Given the description of an element on the screen output the (x, y) to click on. 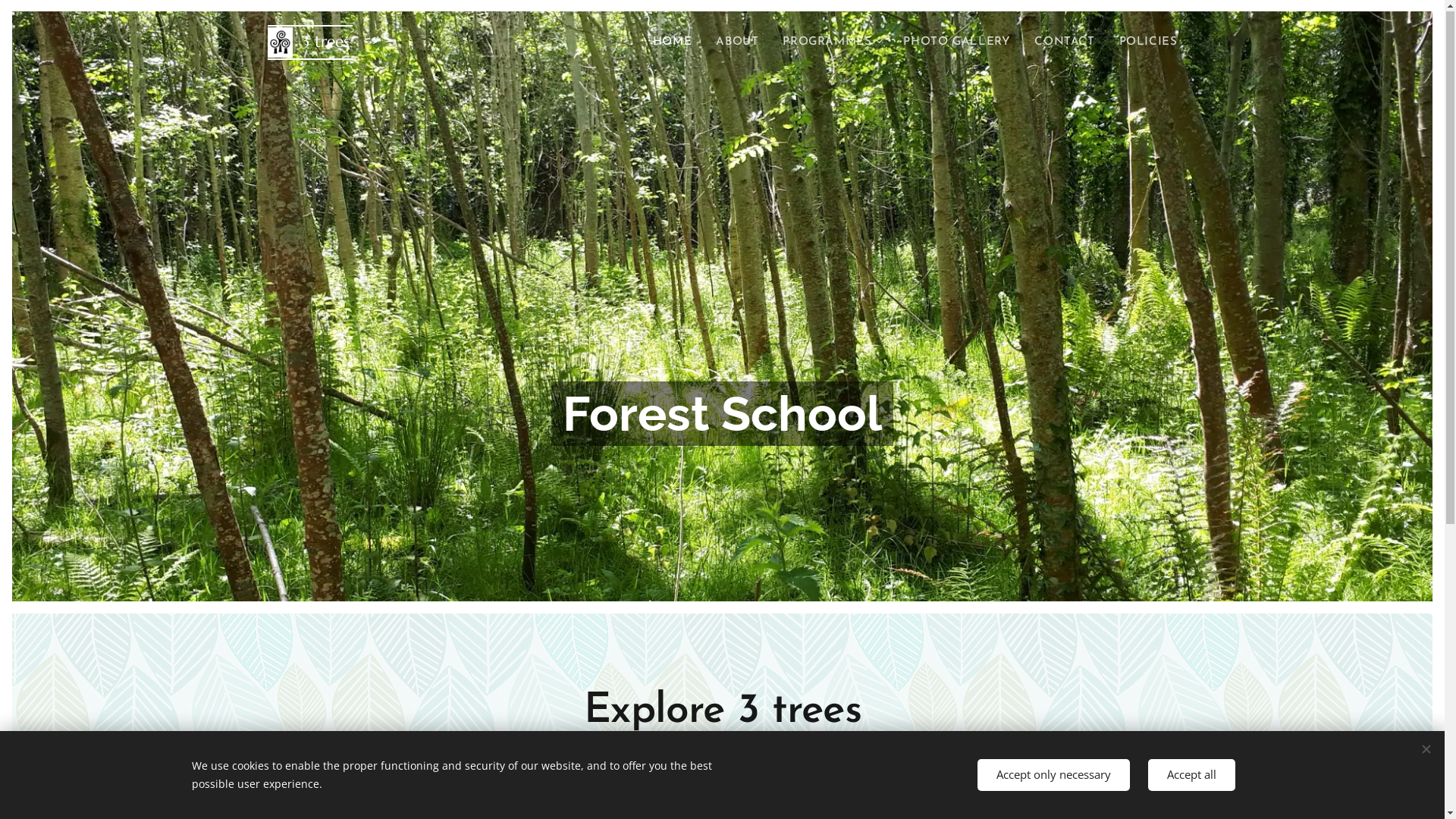
PHOTO GALLERY Element type: text (956, 43)
CONTACT Element type: text (1064, 43)
PROGRAMMES Element type: text (830, 43)
POLICIES Element type: text (1142, 43)
HOME Element type: text (676, 43)
ABOUT Element type: text (736, 43)
Accept only necessary Element type: text (1052, 774)
Accept all Element type: text (1191, 774)
